Given the description of an element on the screen output the (x, y) to click on. 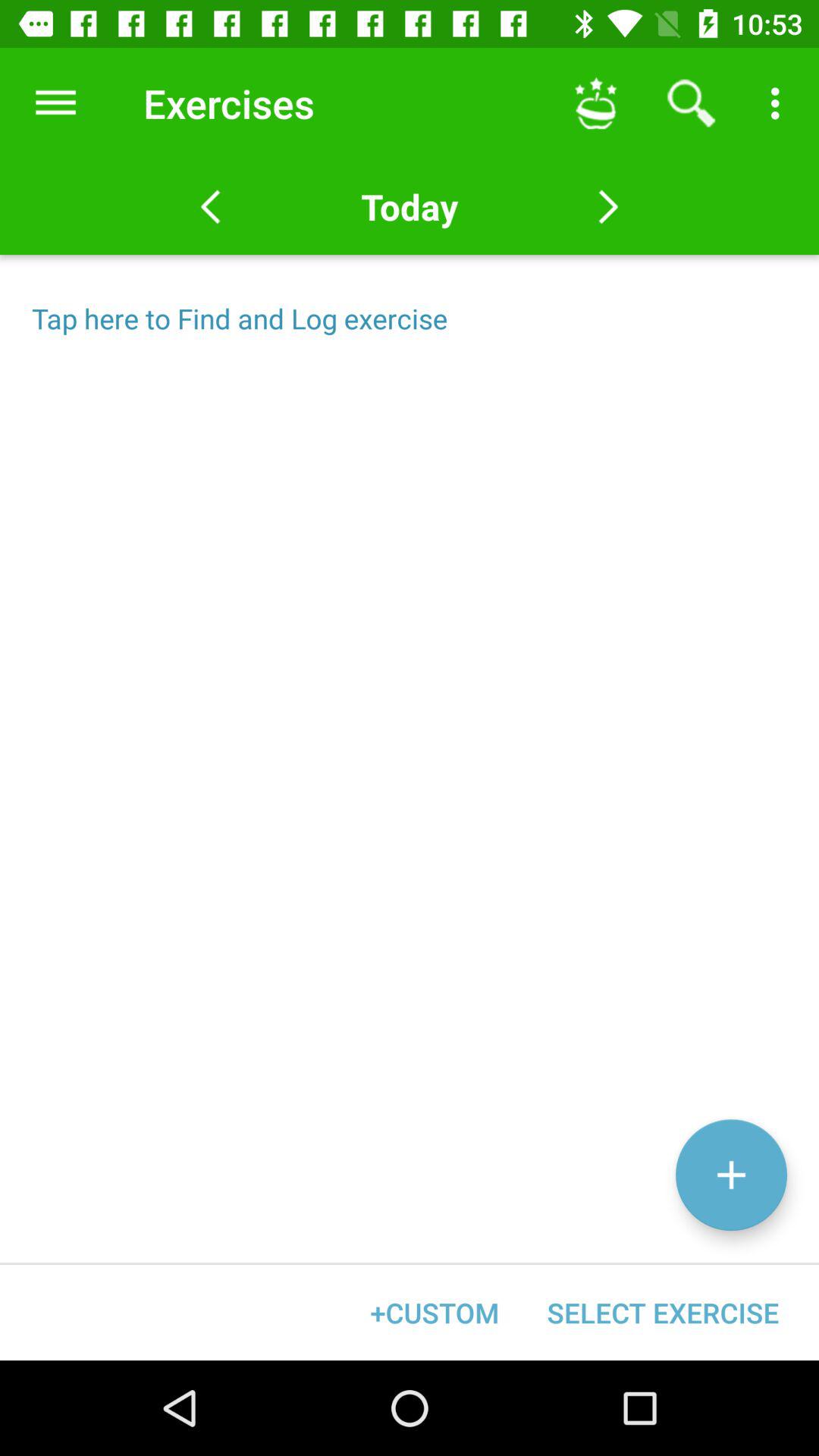
click icon to the left of the select exercise item (434, 1312)
